Given the description of an element on the screen output the (x, y) to click on. 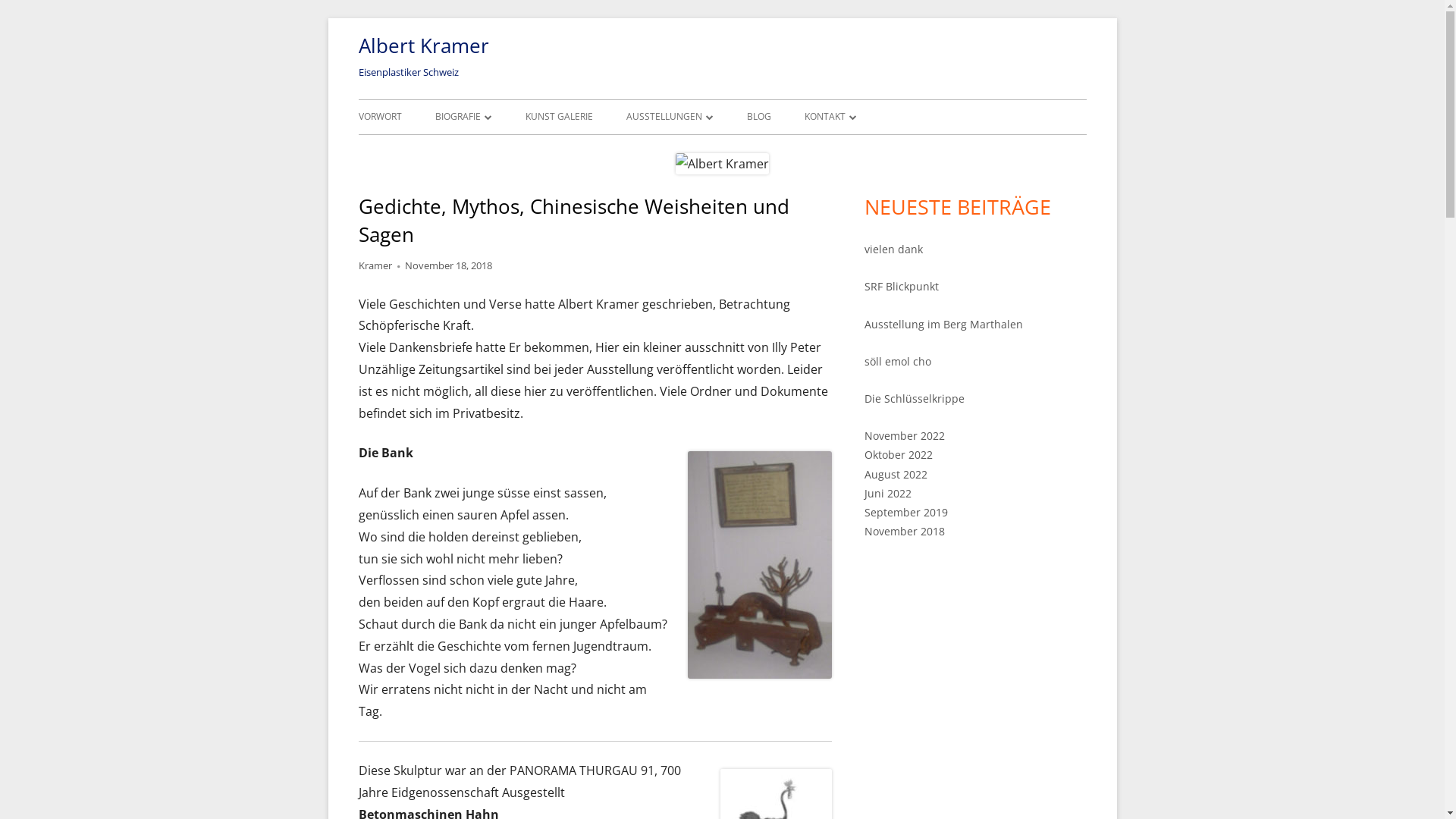
Ausstellung im Berg Marthalen Element type: text (943, 323)
KONTAKT Element type: text (829, 116)
September 2019 Element type: text (905, 512)
November 18, 2018 Element type: text (448, 265)
vielen dank Element type: text (893, 248)
BIOGRAFIE Element type: text (463, 116)
August 2022 Element type: text (895, 474)
Juni 2022 Element type: text (887, 493)
BLOG Element type: text (758, 116)
Oktober 2022 Element type: text (898, 454)
Kramer Element type: text (374, 265)
SRF Blickpunkt Element type: text (901, 286)
LINKS Element type: text (890, 149)
November 2022 Element type: text (904, 435)
November 2018 Element type: text (904, 531)
20VOR4 GALERIE Element type: text (713, 149)
Albert Kramer Element type: text (422, 45)
KUNST GALERIE Element type: text (558, 116)
VERSUCH Element type: text (521, 149)
VORWORT Element type: text (379, 116)
AUSSTELLUNGEN Element type: text (669, 116)
